Given the description of an element on the screen output the (x, y) to click on. 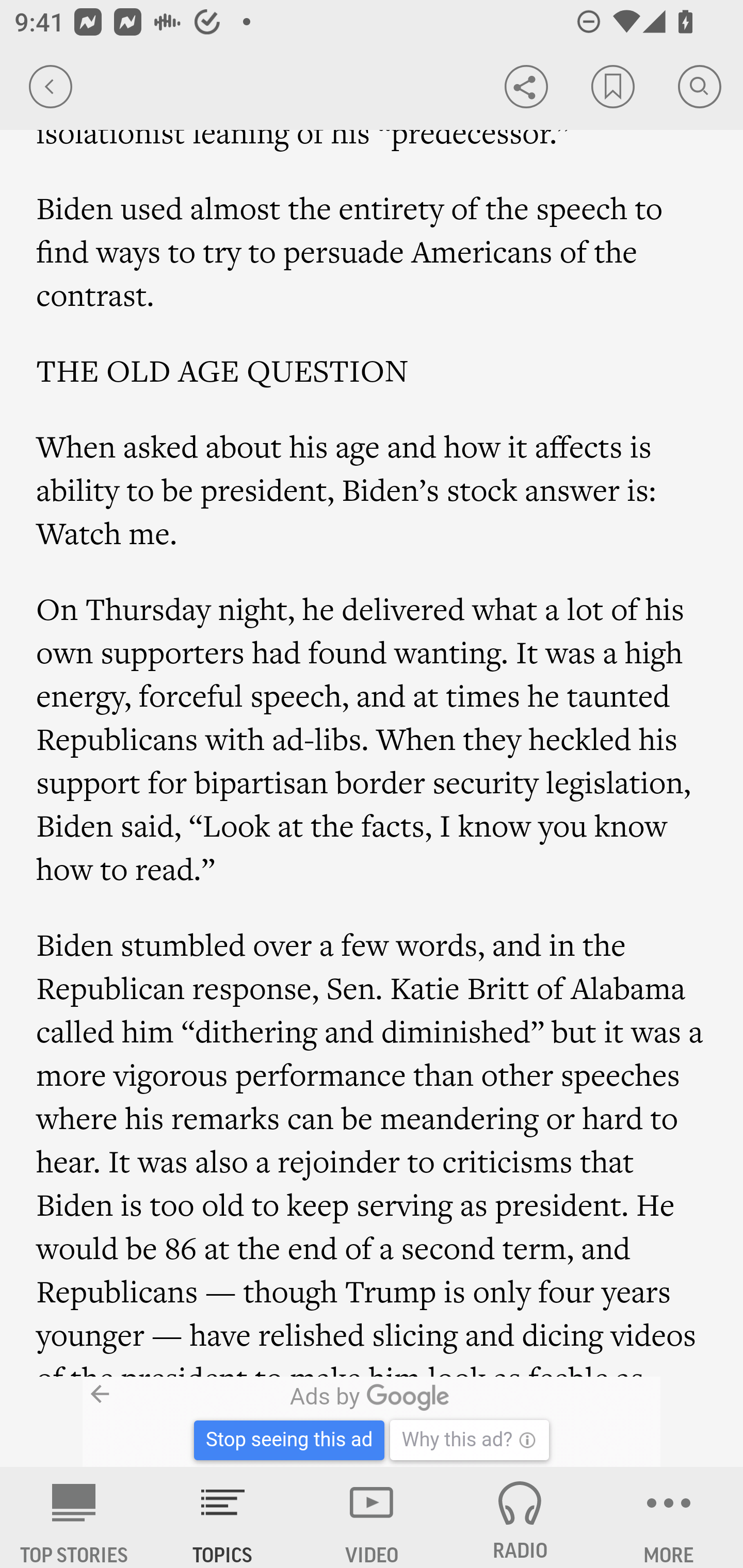
B30001437 (168, 1421)
AP News TOP STORIES (74, 1517)
TOPICS (222, 1517)
VIDEO (371, 1517)
RADIO (519, 1517)
MORE (668, 1517)
